Given the description of an element on the screen output the (x, y) to click on. 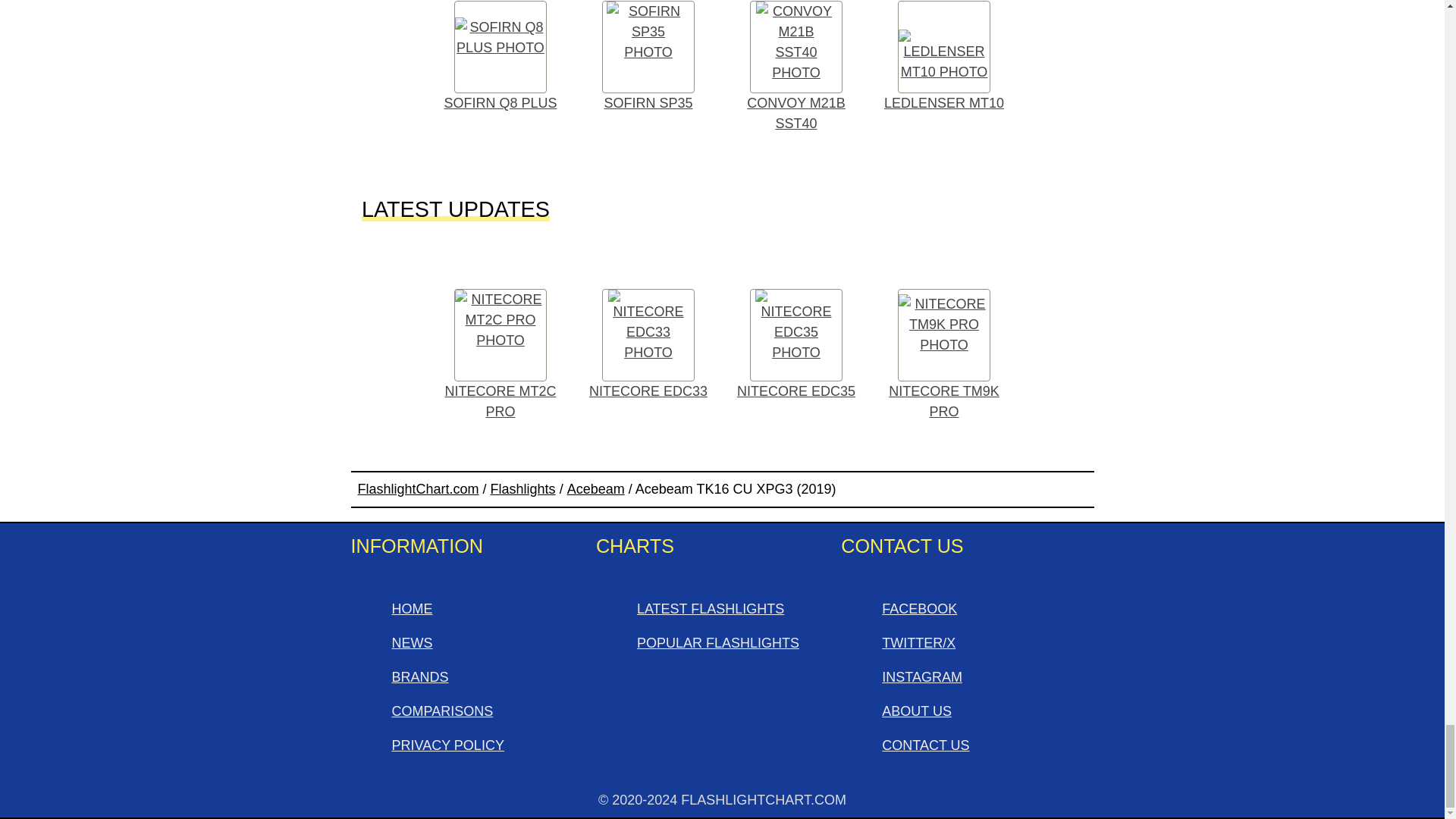
NITECORE MT2C PRO (500, 355)
NITECORE EDC35 (795, 345)
LEDLENSER MT10 (944, 60)
Flashlights (523, 489)
NITECORE TM9K PRO (944, 355)
HOME (411, 608)
Flashlights (523, 489)
FlashlightChart.com (418, 489)
COMPARISONS (442, 711)
NEWS (411, 642)
Acebeam (595, 489)
POPULAR FLASHLIGHTS (718, 642)
FACEBOOK (919, 608)
INSTAGRAM (922, 676)
CONTACT US (925, 744)
